Given the description of an element on the screen output the (x, y) to click on. 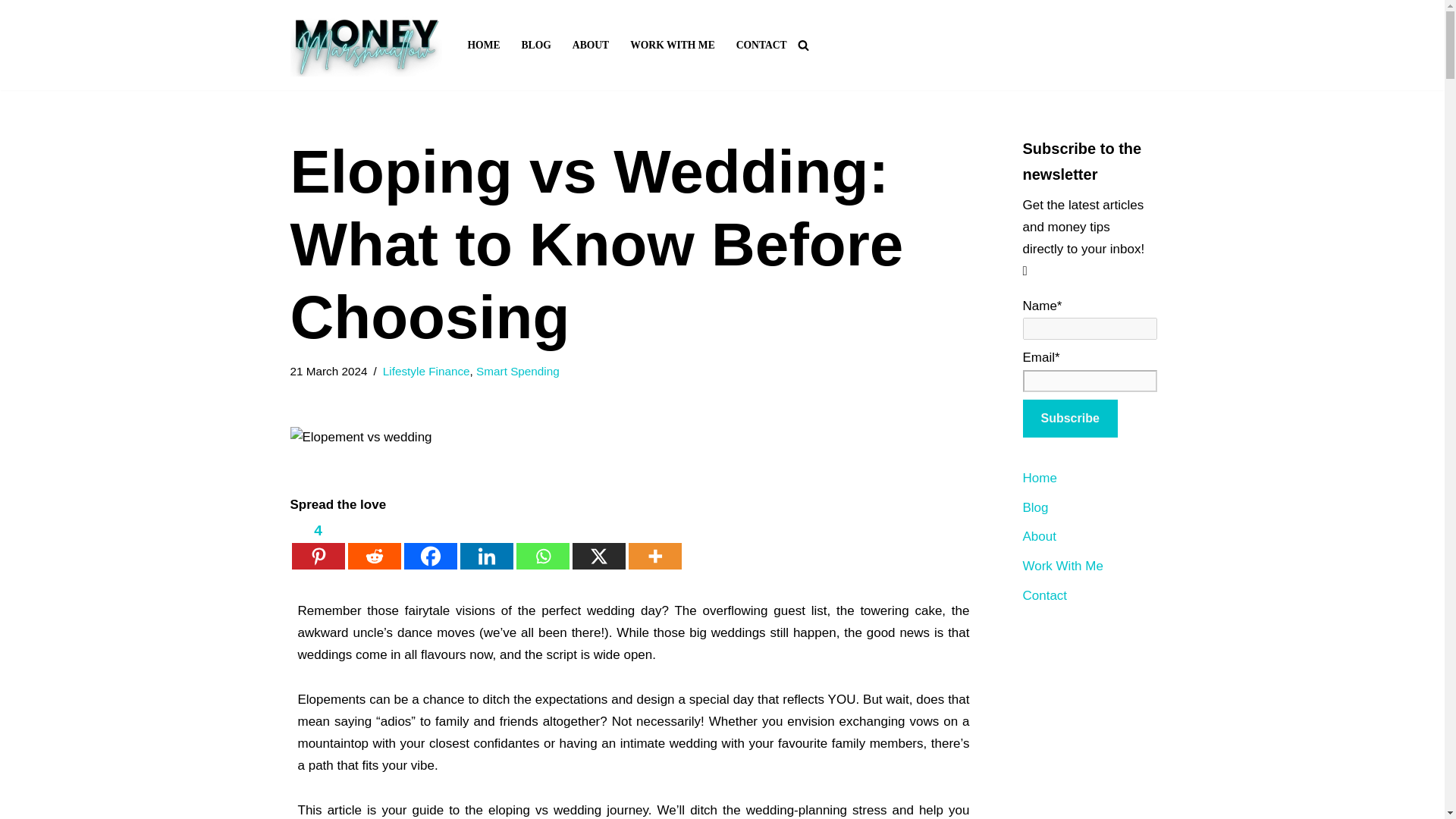
Whatsapp (542, 544)
Reddit (373, 544)
4 (317, 544)
Subscribe (1069, 418)
WORK WITH ME (672, 45)
Facebook (430, 544)
ABOUT (590, 45)
CONTACT (761, 45)
More (654, 544)
Pinterest (317, 544)
Lifestyle Finance (426, 370)
Skip to content (11, 31)
Smart Spending (517, 370)
BLOG (536, 45)
HOME (483, 45)
